Given the description of an element on the screen output the (x, y) to click on. 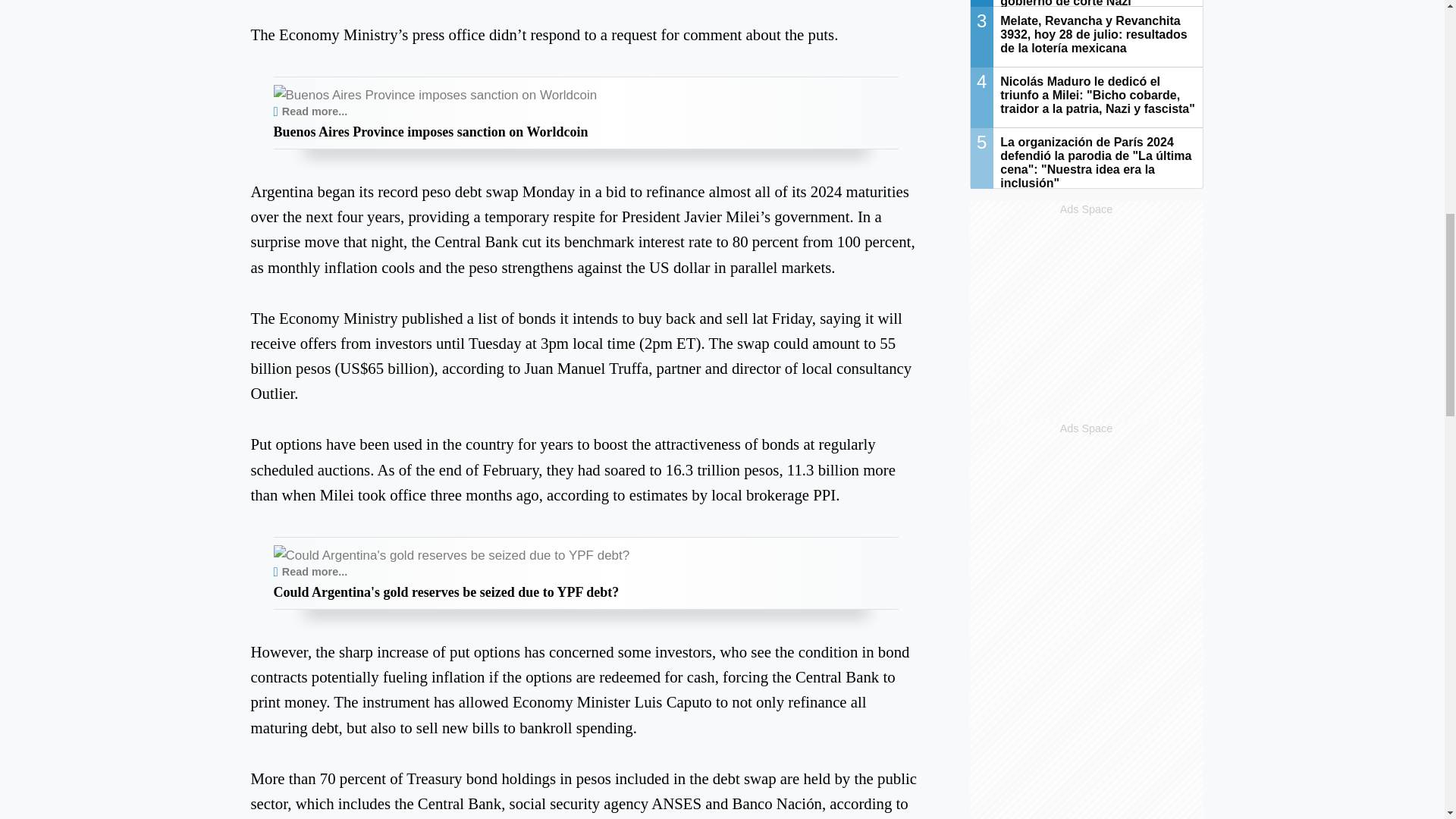
Buenos Aires Province imposes sanction on Worldcoin (314, 111)
